Given the description of an element on the screen output the (x, y) to click on. 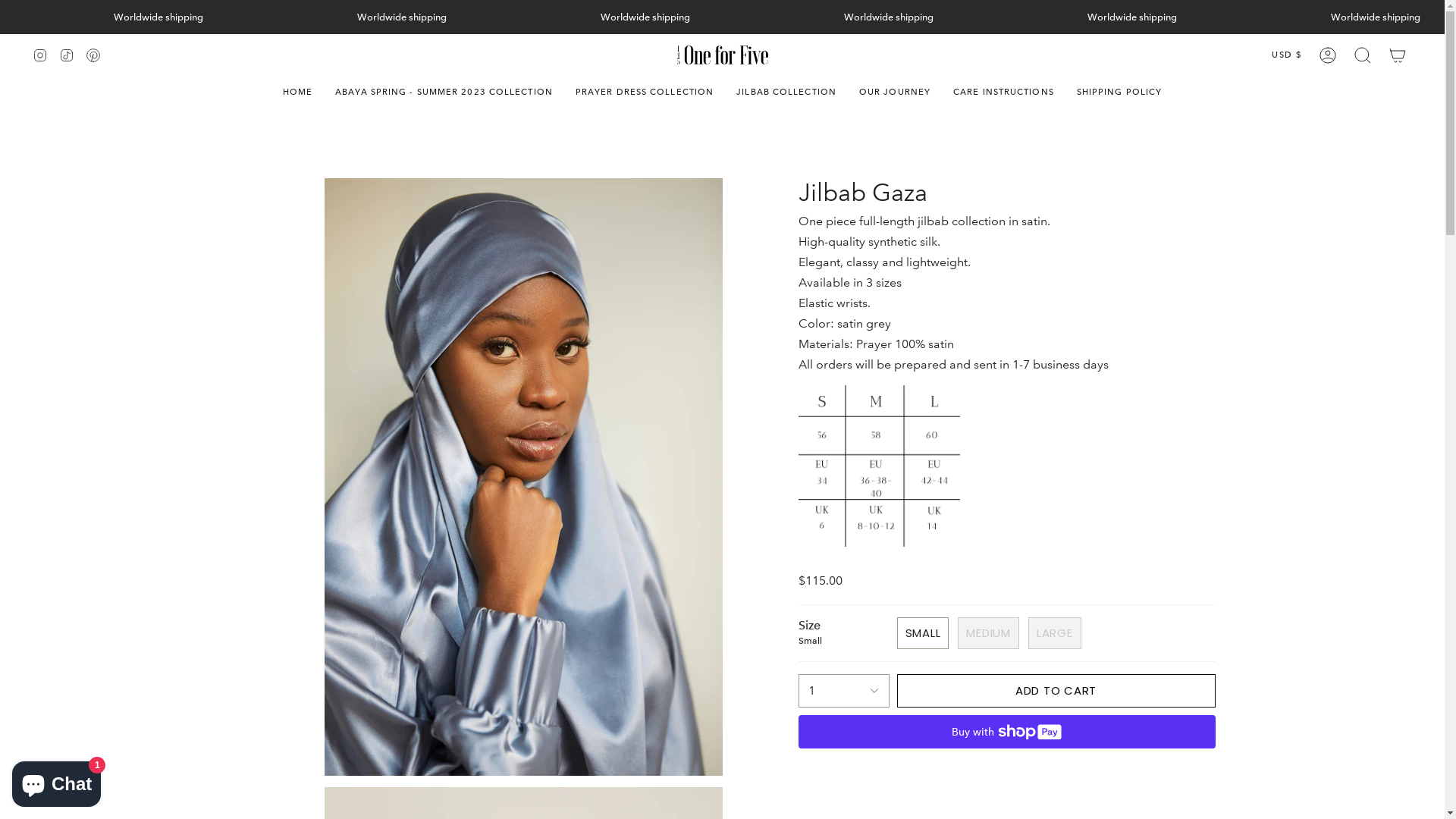
Shopify online store chat Element type: hover (56, 780)
ABAYA SPRING - SUMMER 2023 COLLECTION Element type: text (443, 91)
TikTok Element type: text (66, 54)
CARE INSTRUCTIONS Element type: text (1003, 91)
Pinterest Element type: text (92, 54)
SEARCH Element type: text (1362, 54)
ADD TO CART Element type: text (1055, 690)
Instagram Element type: text (39, 54)
OUR JOURNEY Element type: text (894, 91)
SHIPPING POLICY Element type: text (1119, 91)
ACCOUNT Element type: text (1327, 54)
CART Element type: text (1397, 54)
USD $ Element type: text (1286, 54)
JILBAB COLLECTION Element type: text (785, 91)
1 Element type: text (842, 690)
PRAYER DRESS COLLECTION Element type: text (644, 91)
HOME Element type: text (297, 91)
